Given the description of an element on the screen output the (x, y) to click on. 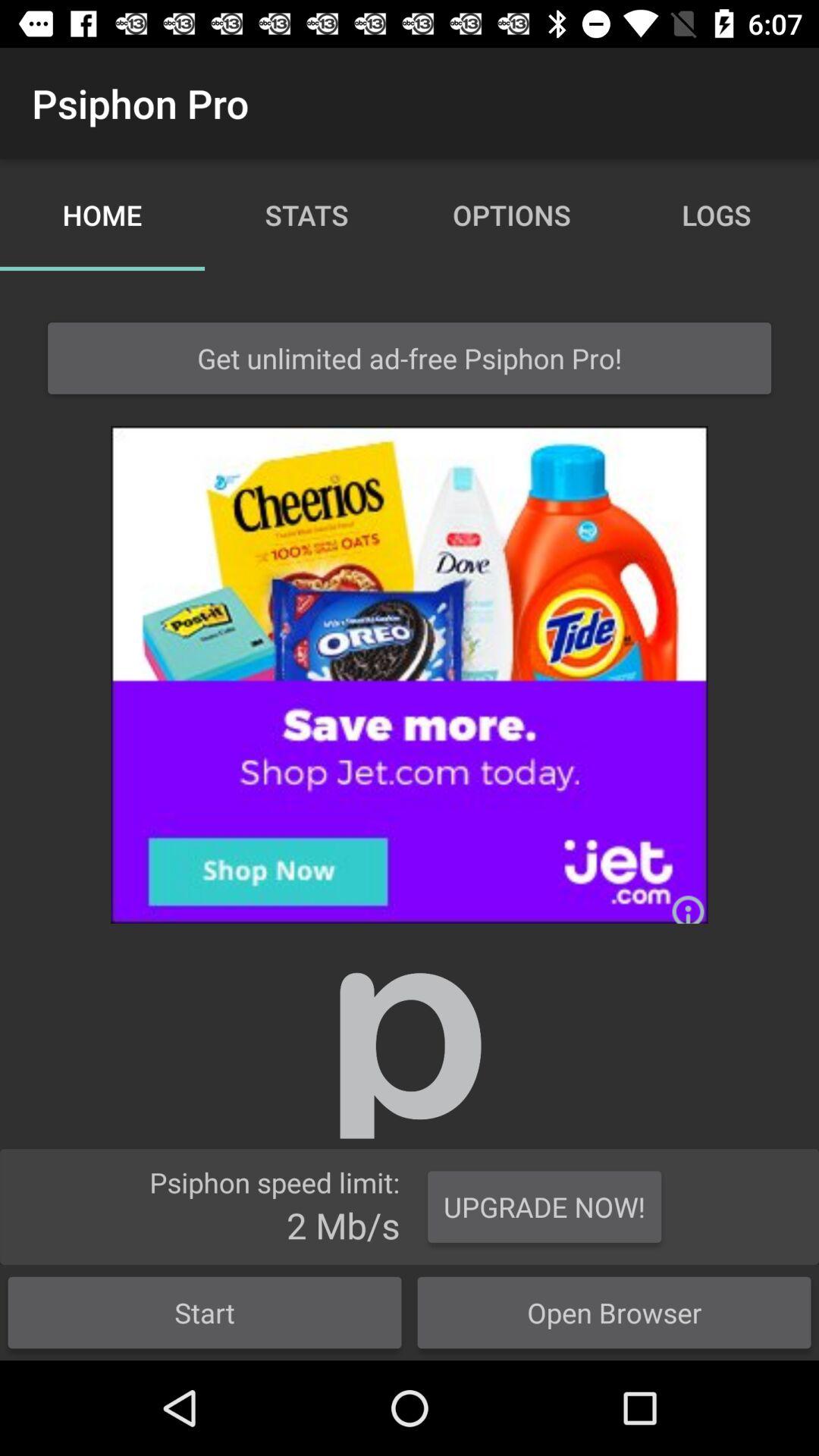
advertisement (409, 674)
